Given the description of an element on the screen output the (x, y) to click on. 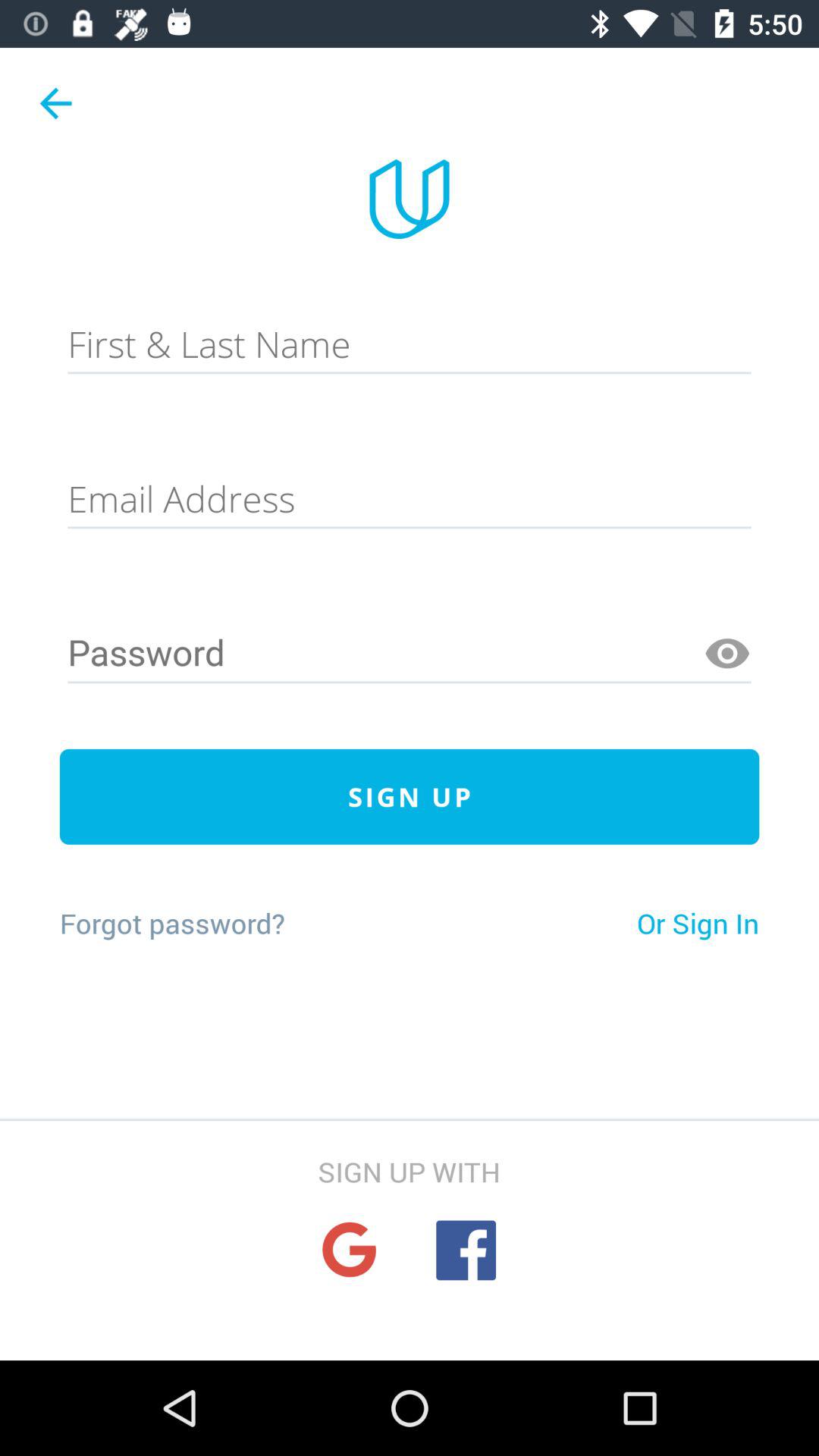
open icon next to or sign in icon (171, 922)
